Given the description of an element on the screen output the (x, y) to click on. 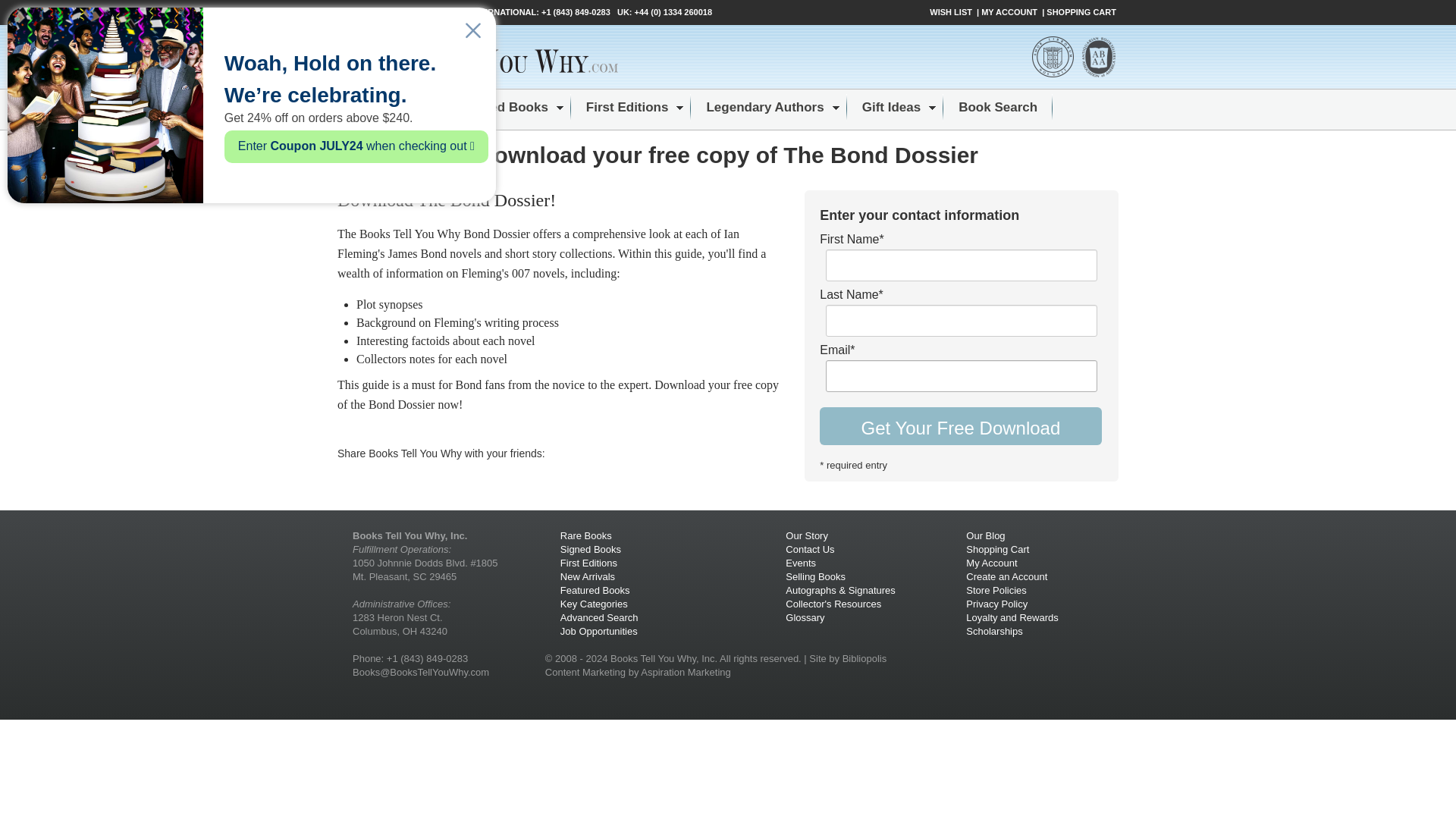
Featured Books (595, 590)
Contact Us (810, 549)
Key Categories (593, 603)
Events (800, 562)
New Arrivals (587, 576)
MY ACCOUNT (1010, 12)
Signed Books (590, 549)
Legendary Authors (764, 107)
Rare Books (388, 107)
My Account (991, 562)
SHOPPING CART (1082, 12)
Books Tell You Why (479, 56)
1-800-948-5563 (430, 11)
Rare Books (585, 535)
Signed Books (504, 107)
